Given the description of an element on the screen output the (x, y) to click on. 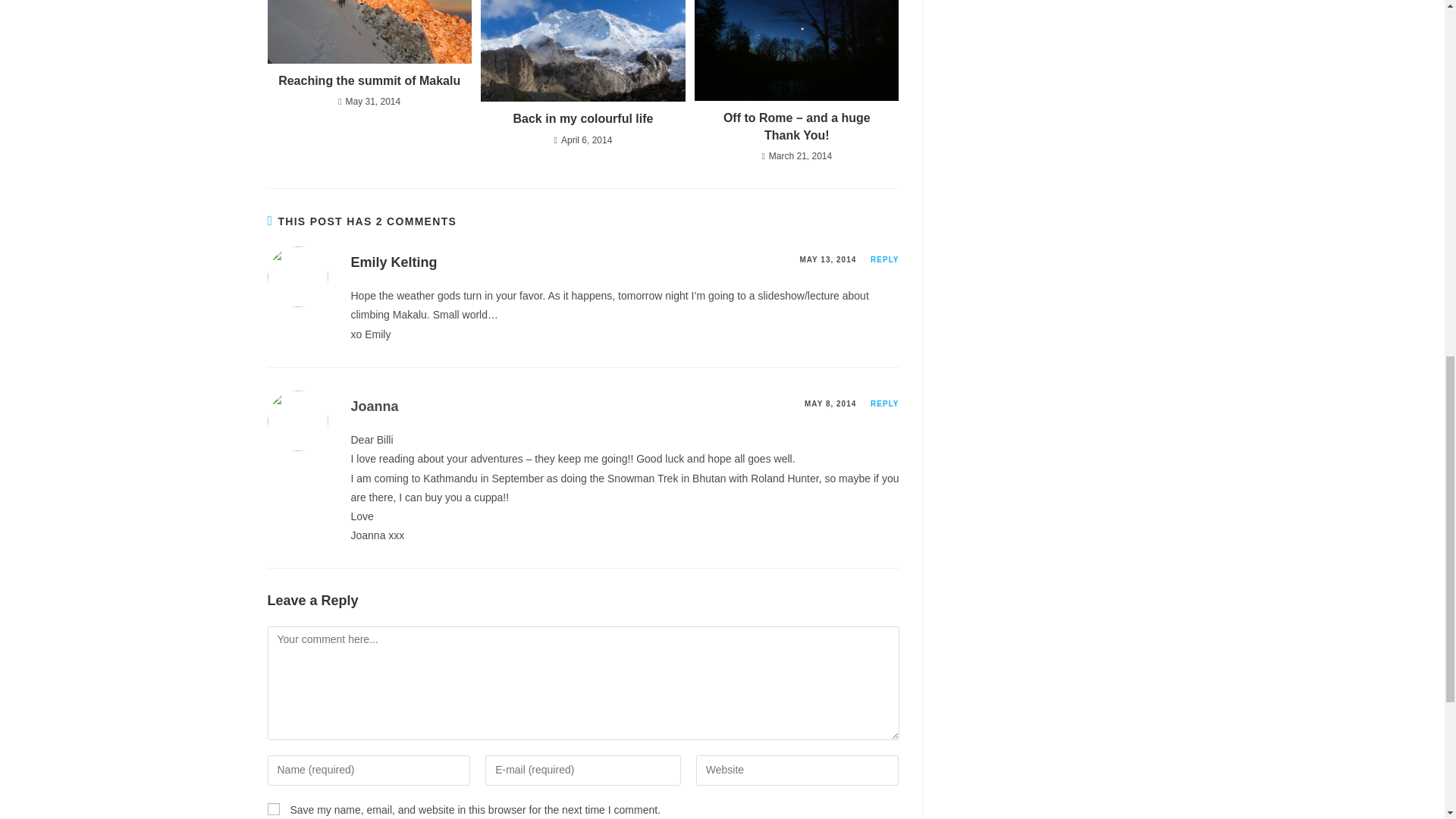
yes (272, 808)
